Given the description of an element on the screen output the (x, y) to click on. 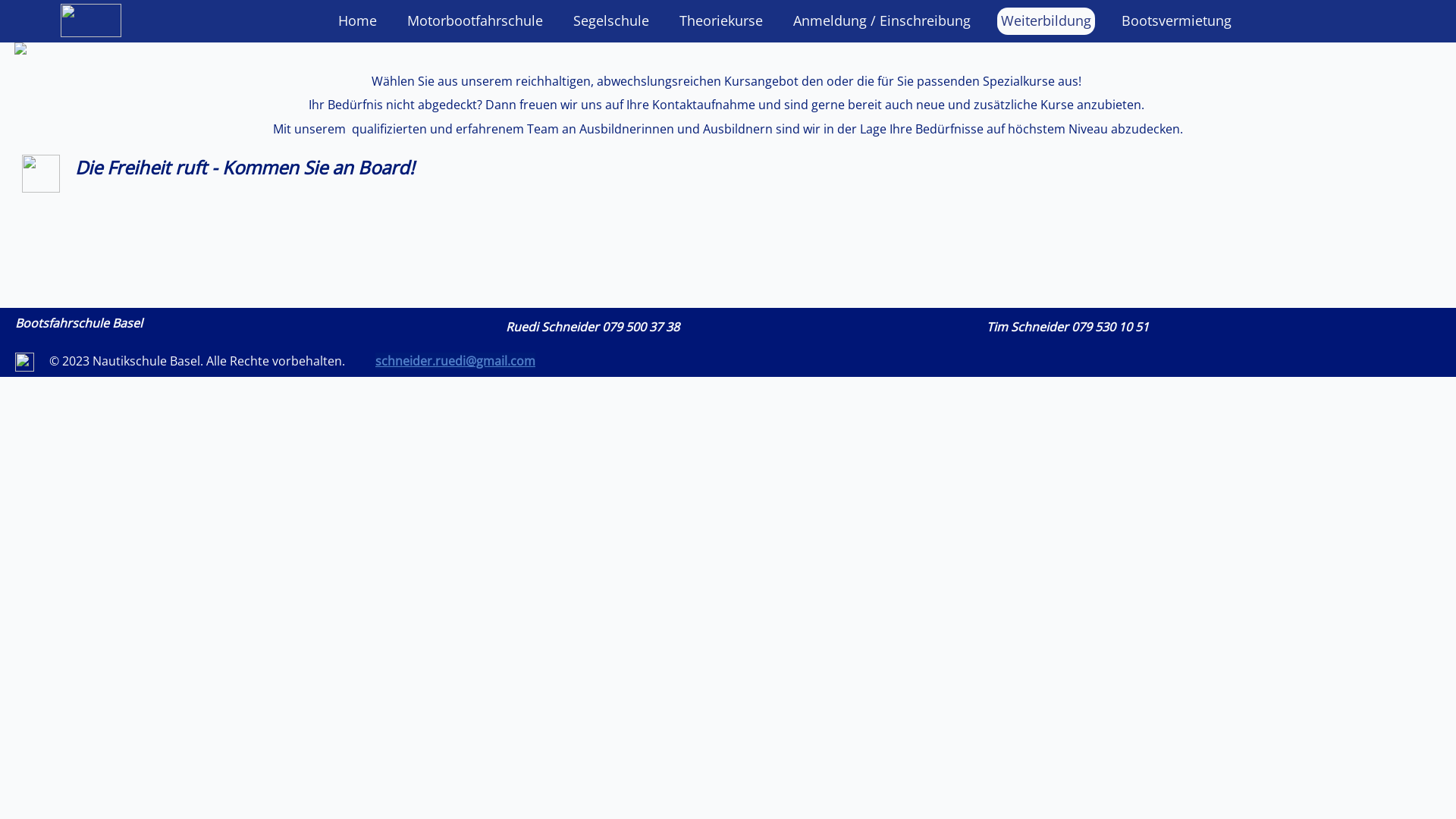
Segelschule Element type: text (610, 20)
Home Element type: text (357, 20)
Weiterbildung Element type: text (1046, 20)
Theoriekurse Element type: text (720, 20)
Bootsvermietung Element type: text (1176, 20)
Anmeldung / Einschreibung Element type: text (881, 20)
schneider.ruedi@gmail.com Element type: text (455, 360)
Motorbootfahrschule Element type: text (474, 20)
